Given the description of an element on the screen output the (x, y) to click on. 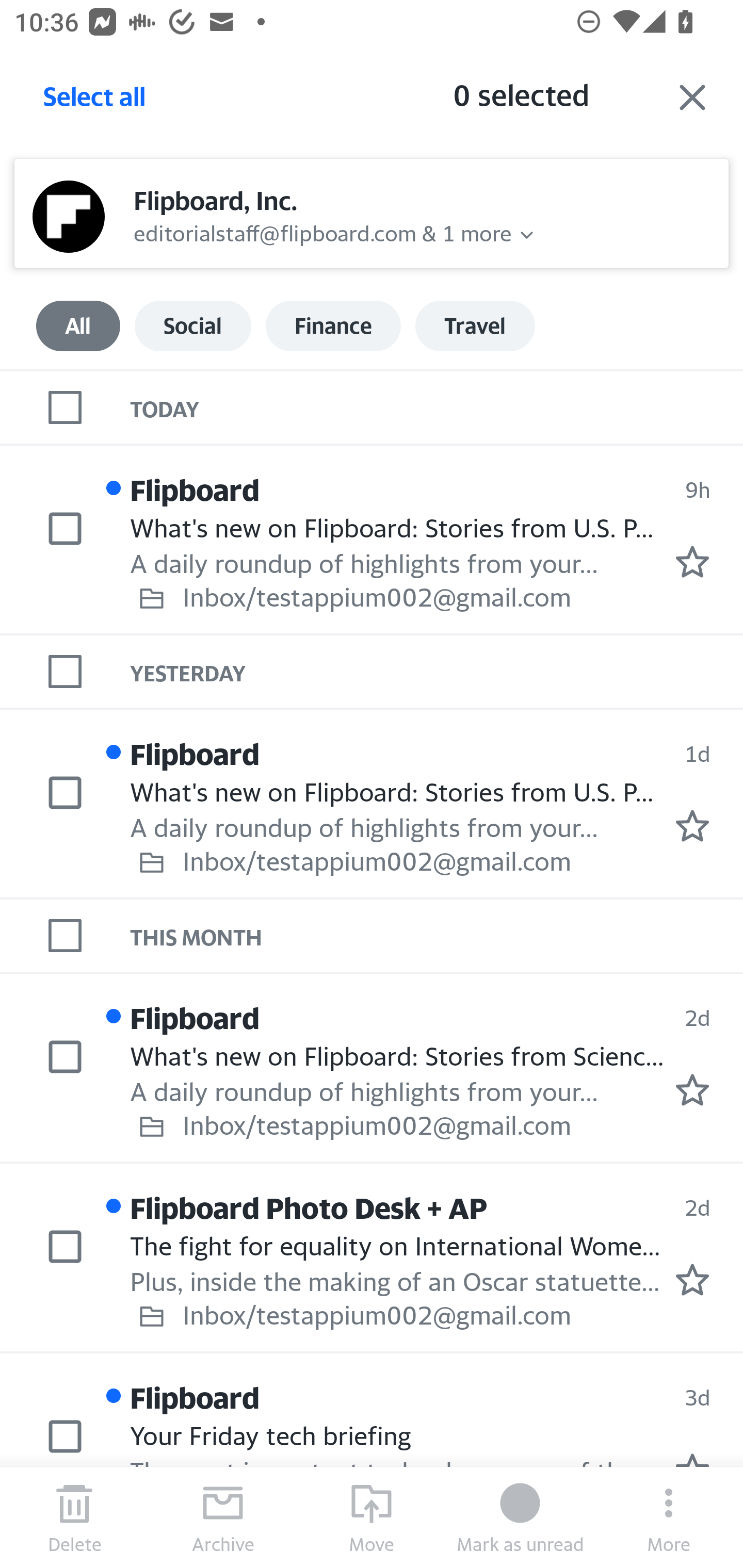
Exit selection mode (692, 97)
Select all (94, 101)
editorialstaff@flipboard.com & 1 more (322, 231)
All (78, 326)
Social (192, 326)
Finance (333, 326)
Travel (474, 326)
TODAY (436, 406)
Mark as starred. (692, 562)
YESTERDAY (436, 671)
Mark as starred. (692, 825)
THIS MONTH (436, 935)
Mark as starred. (692, 1090)
Mark as starred. (692, 1280)
Delete (74, 1517)
Archive (222, 1517)
Move (371, 1517)
Mark as unread (519, 1517)
More (668, 1517)
